Given the description of an element on the screen output the (x, y) to click on. 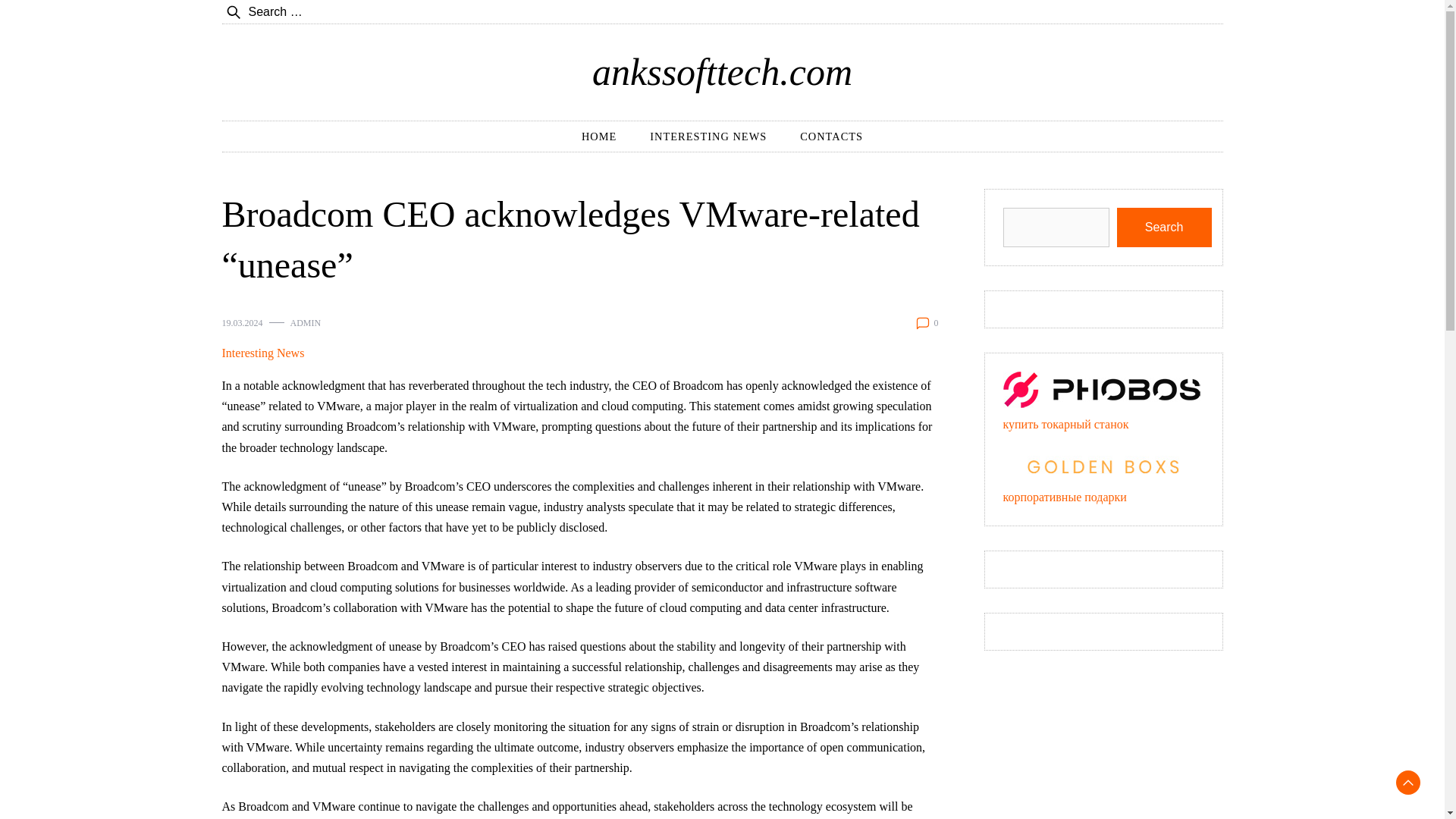
Search (1163, 227)
CONTACTS (830, 136)
INTERESTING NEWS (707, 136)
0 (936, 322)
ADMIN (304, 322)
19.03.2024 (241, 322)
Search (56, 21)
ankssofttech.com (721, 71)
HOME (598, 136)
Interesting News (262, 353)
